Given the description of an element on the screen output the (x, y) to click on. 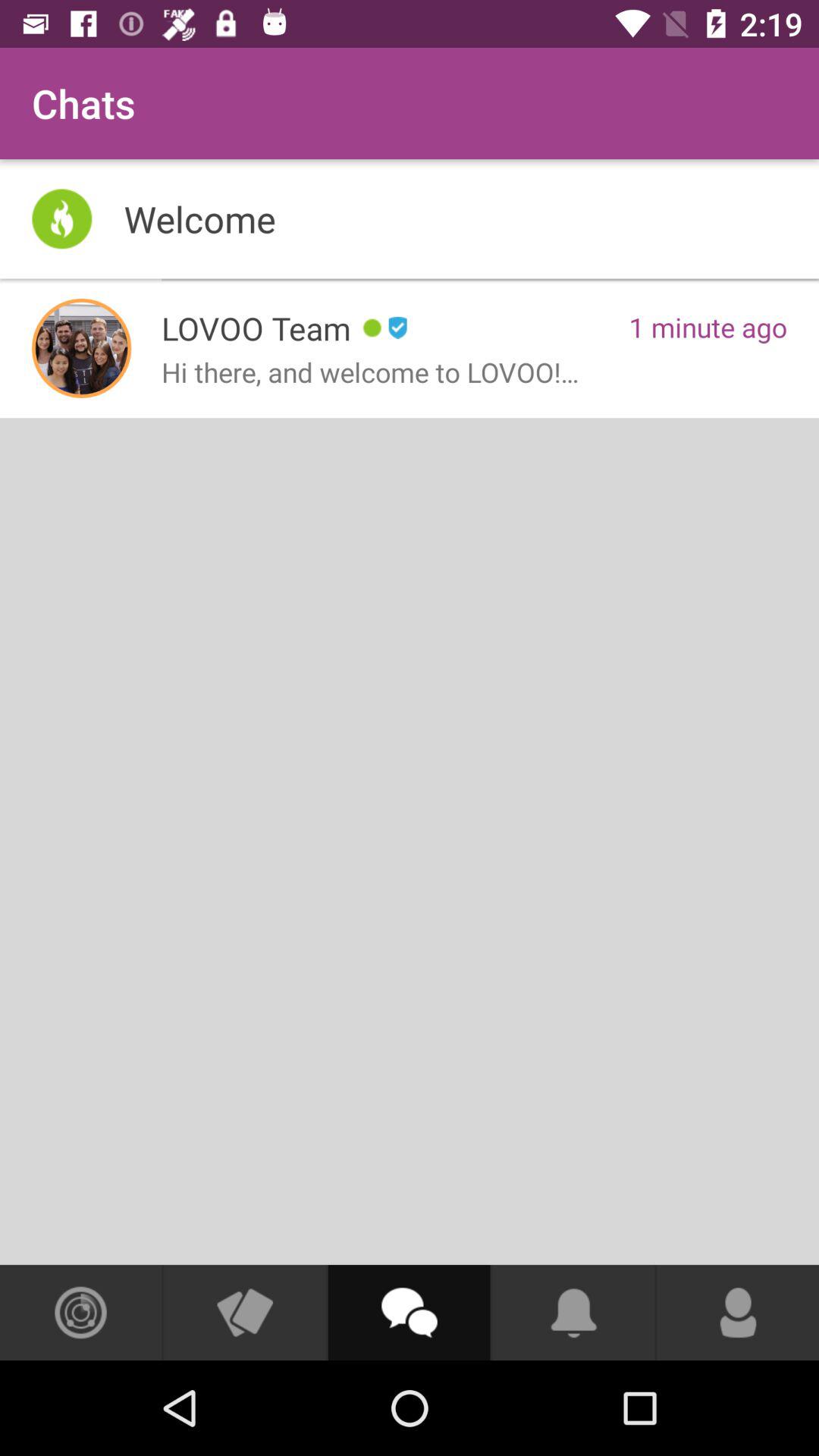
go to my account (737, 1312)
